Given the description of an element on the screen output the (x, y) to click on. 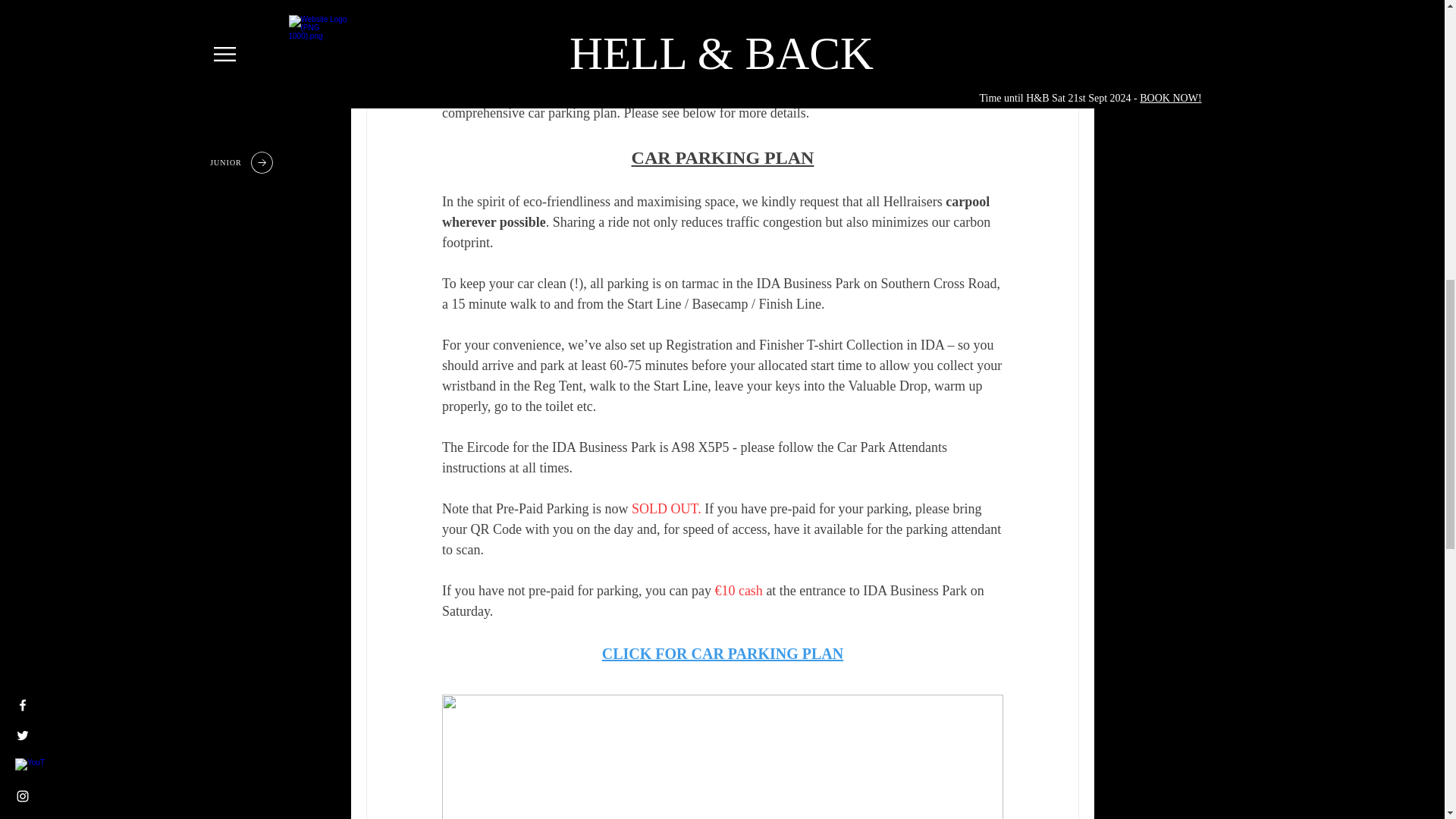
CLICK FOR CAR PARKING PLAN (722, 654)
